Given the description of an element on the screen output the (x, y) to click on. 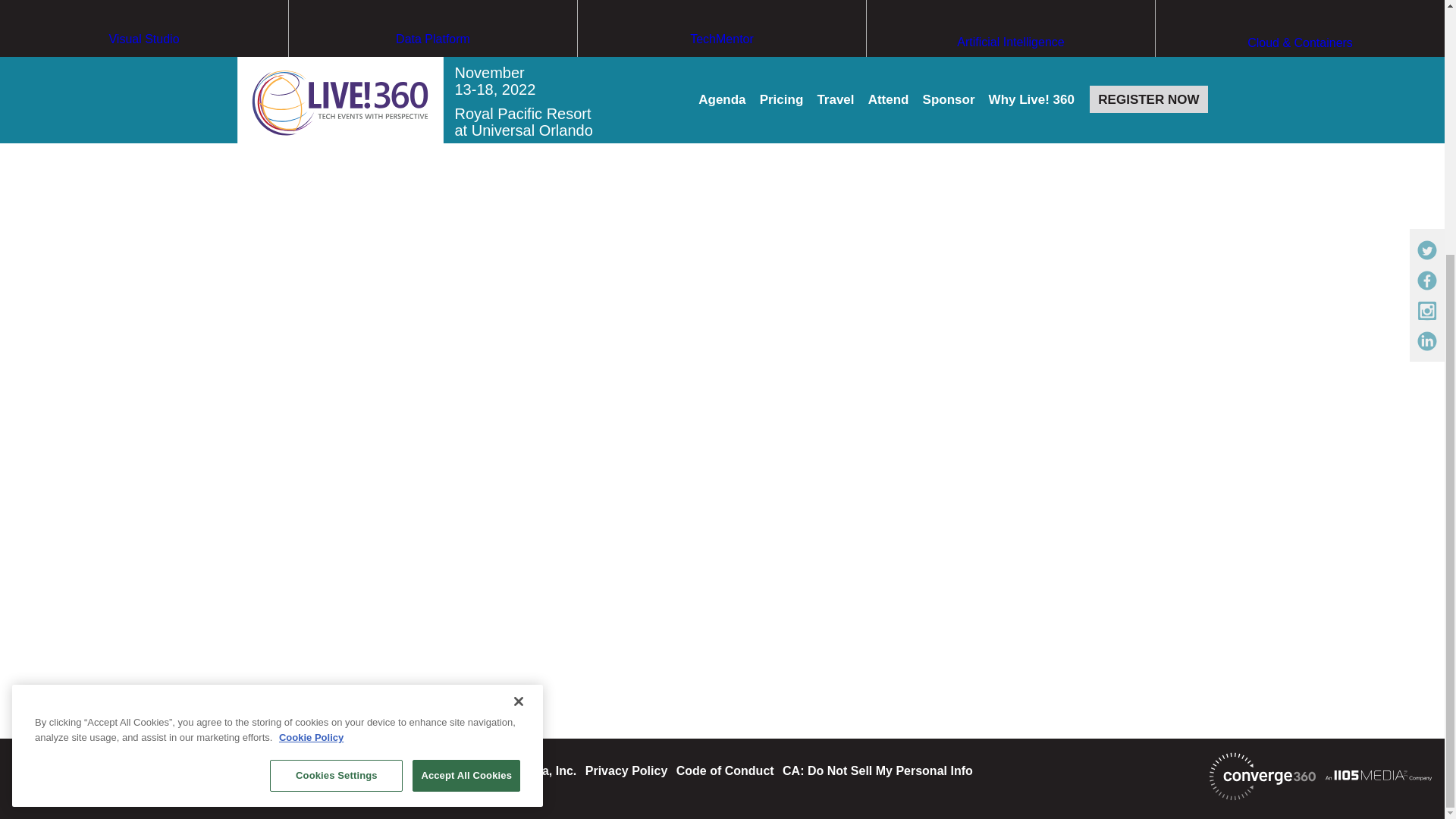
Live Chat Button (1414, 427)
